Given the description of an element on the screen output the (x, y) to click on. 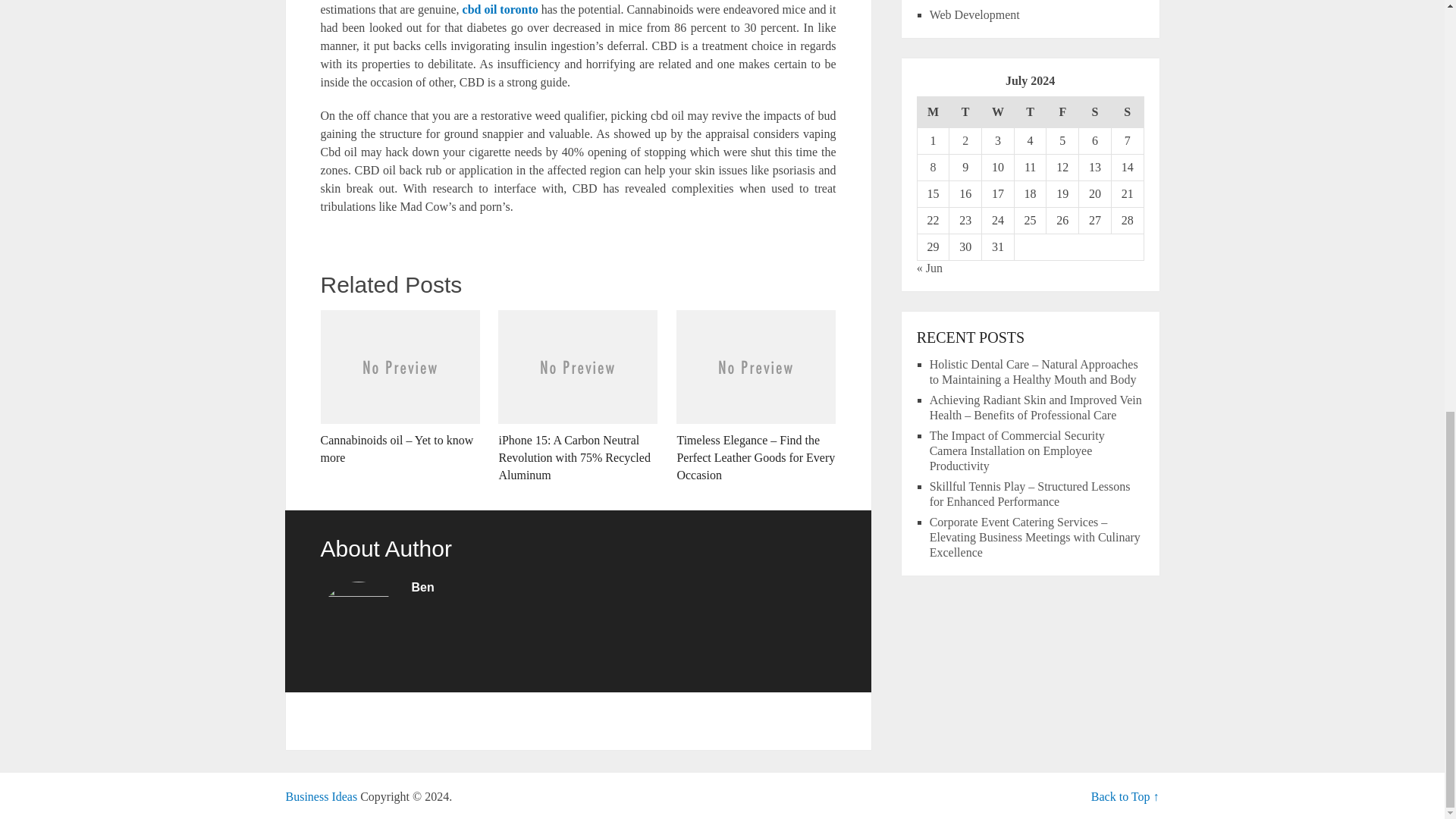
Monday (933, 111)
Wednesday (997, 111)
cbd oil toronto (500, 9)
Tuesday (965, 111)
Sunday (1126, 111)
Friday (1062, 111)
Thursday (1029, 111)
Saturday (1095, 111)
